Given the description of an element on the screen output the (x, y) to click on. 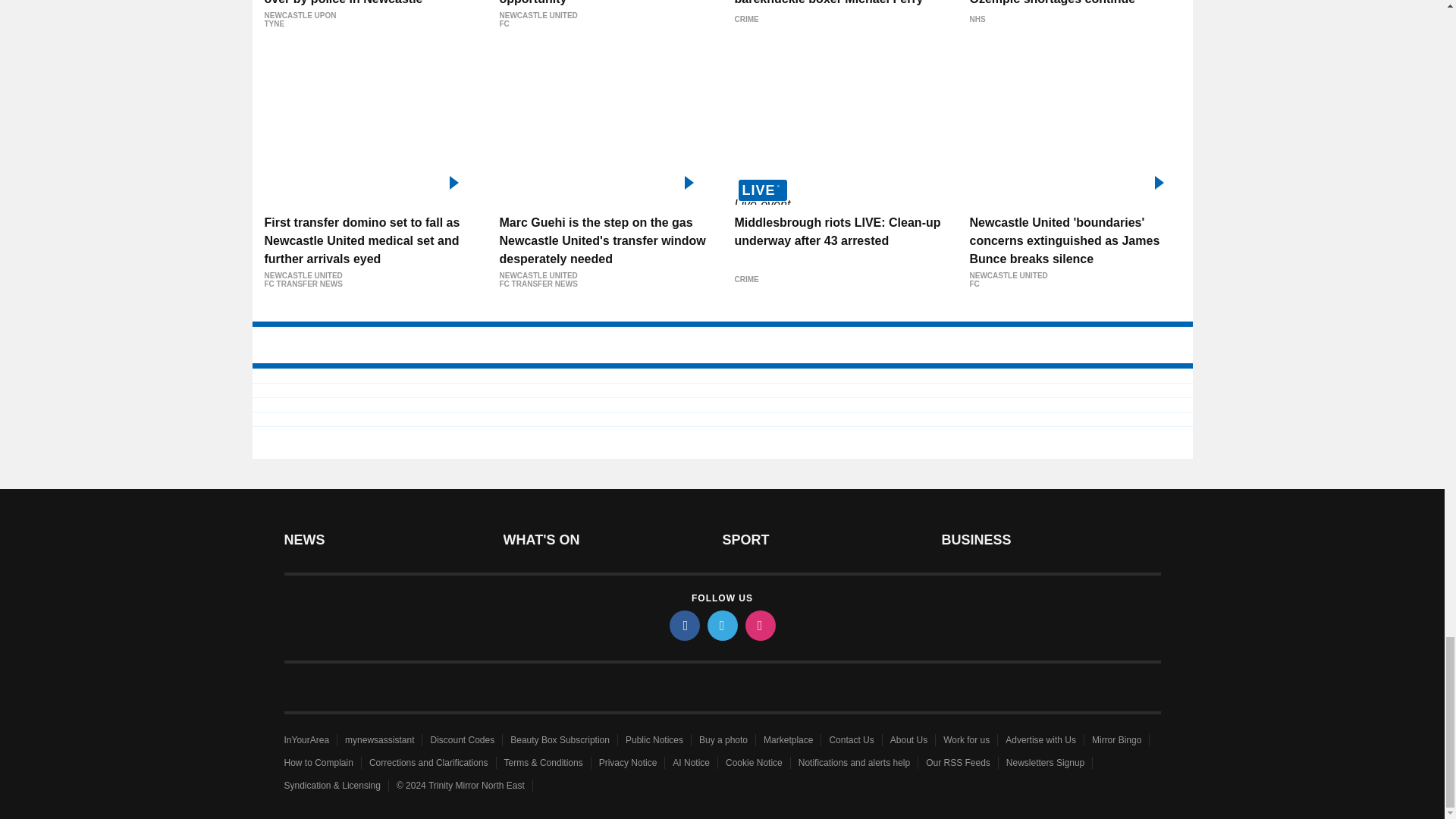
twitter (721, 625)
facebook (683, 625)
instagram (759, 625)
